Given the description of an element on the screen output the (x, y) to click on. 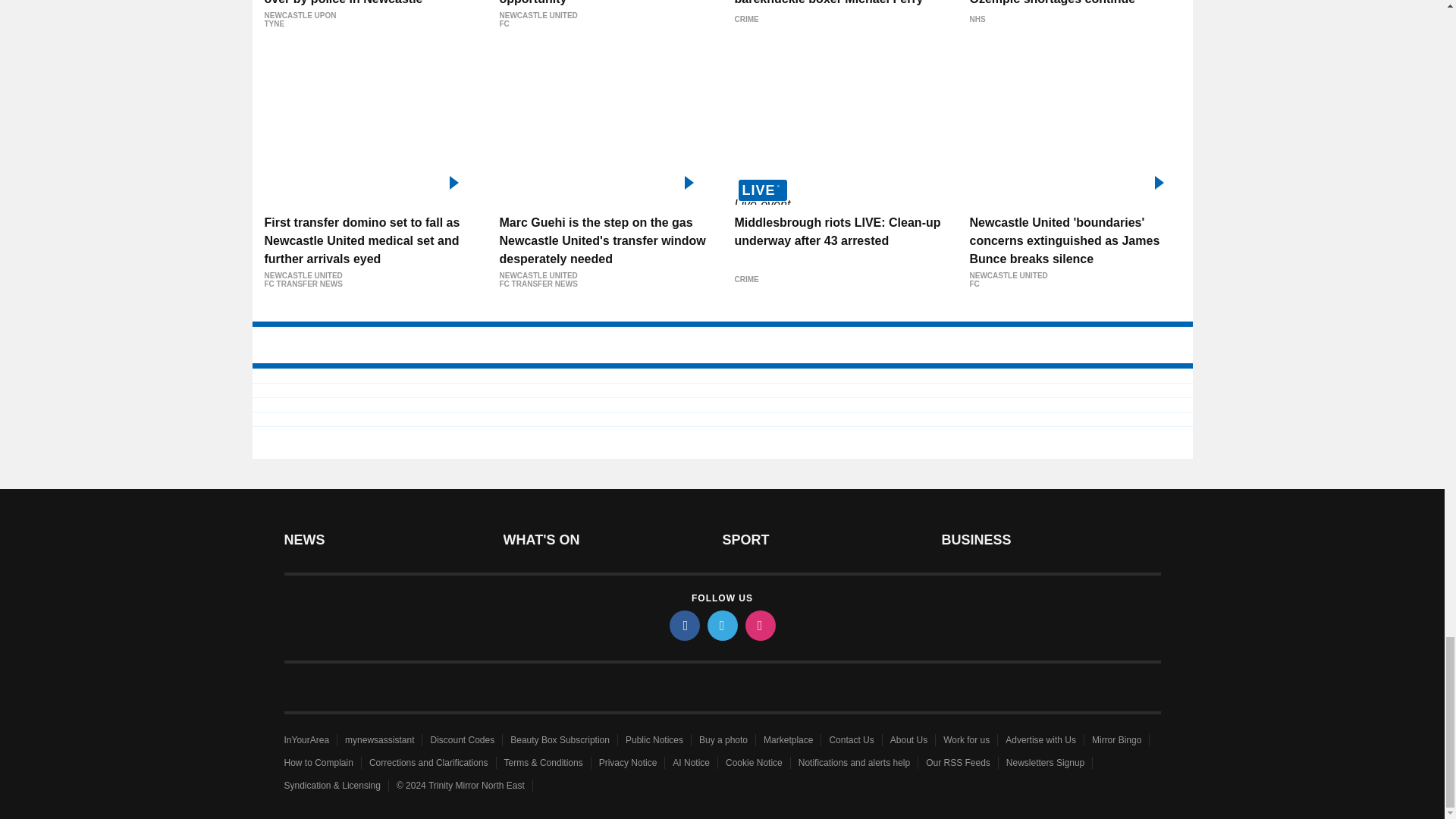
twitter (721, 625)
facebook (683, 625)
instagram (759, 625)
